Given the description of an element on the screen output the (x, y) to click on. 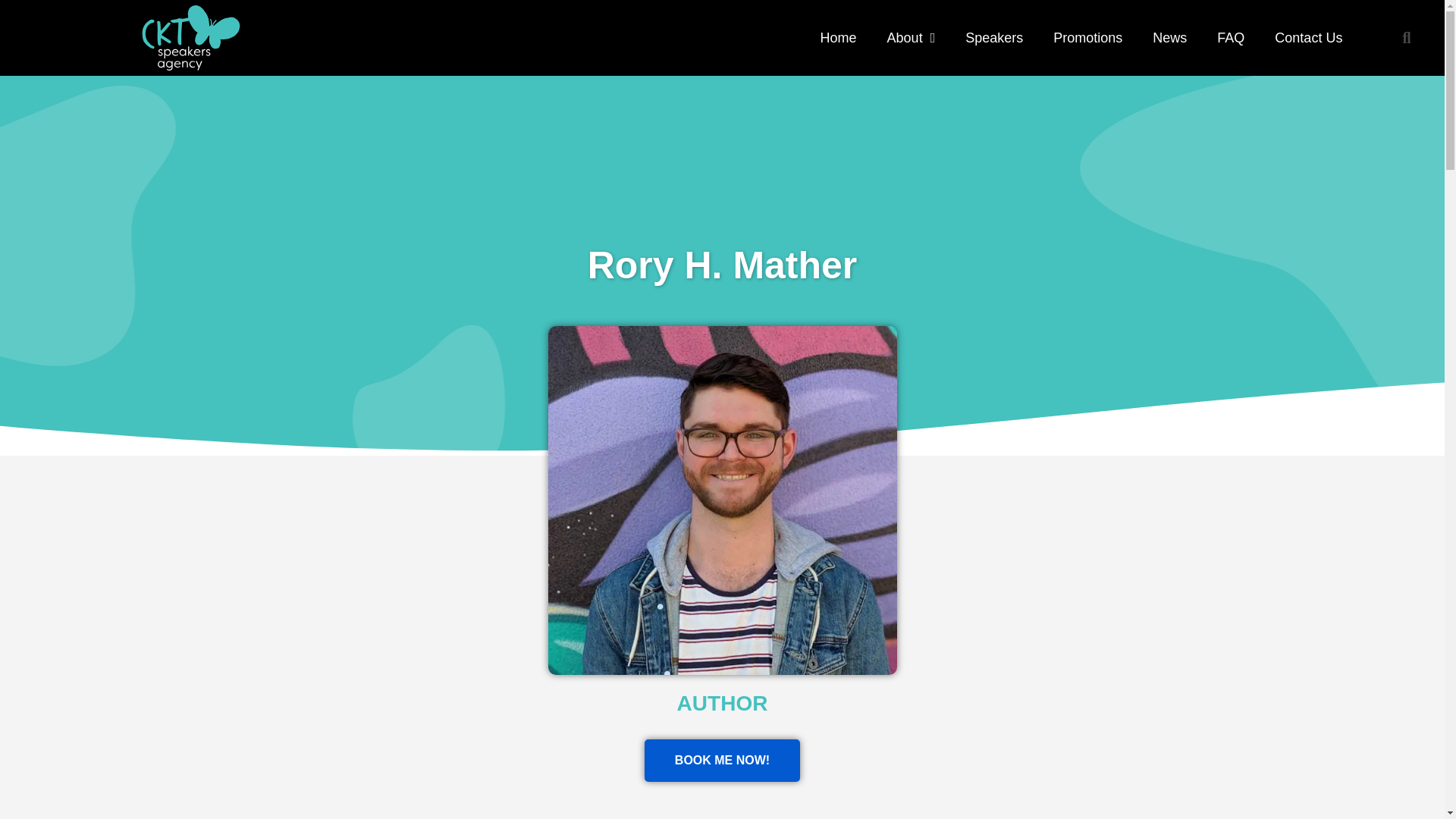
About (911, 38)
Frequently Asked Questions (1230, 38)
FAQ (1230, 38)
Promotions (1087, 38)
Contact Us (1307, 38)
Speakers (994, 38)
Welcome to the CKT Speakers Agency (838, 38)
BOOK ME NOW! (722, 760)
Skip to content (15, 7)
Contact the CKT Speakers Agency (1307, 38)
Home (838, 38)
News (1169, 38)
